Given the description of an element on the screen output the (x, y) to click on. 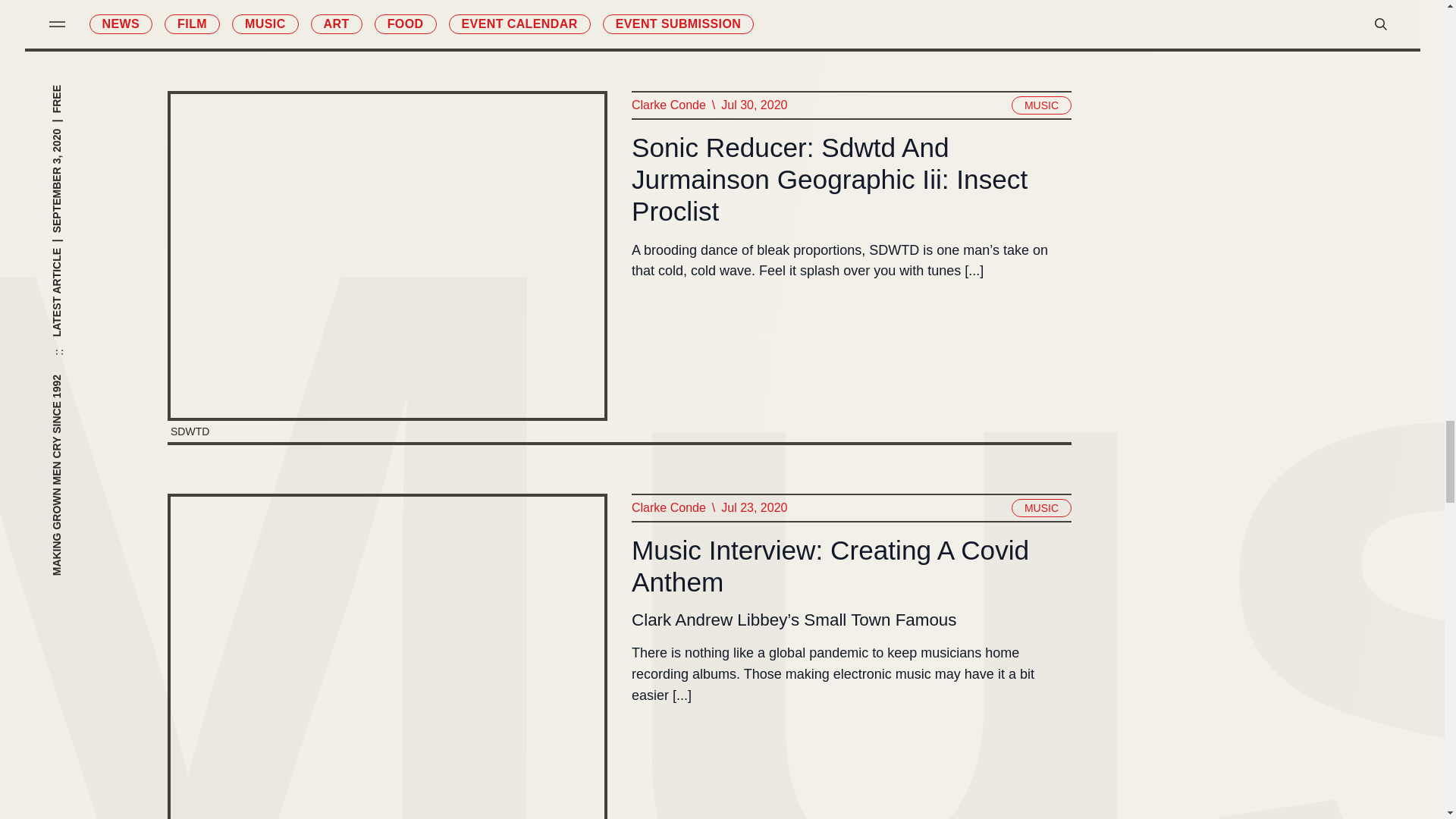
MUSIC (1040, 507)
Clarke Conde (667, 507)
Clarke Conde (667, 105)
MUSIC (1040, 105)
